Given the description of an element on the screen output the (x, y) to click on. 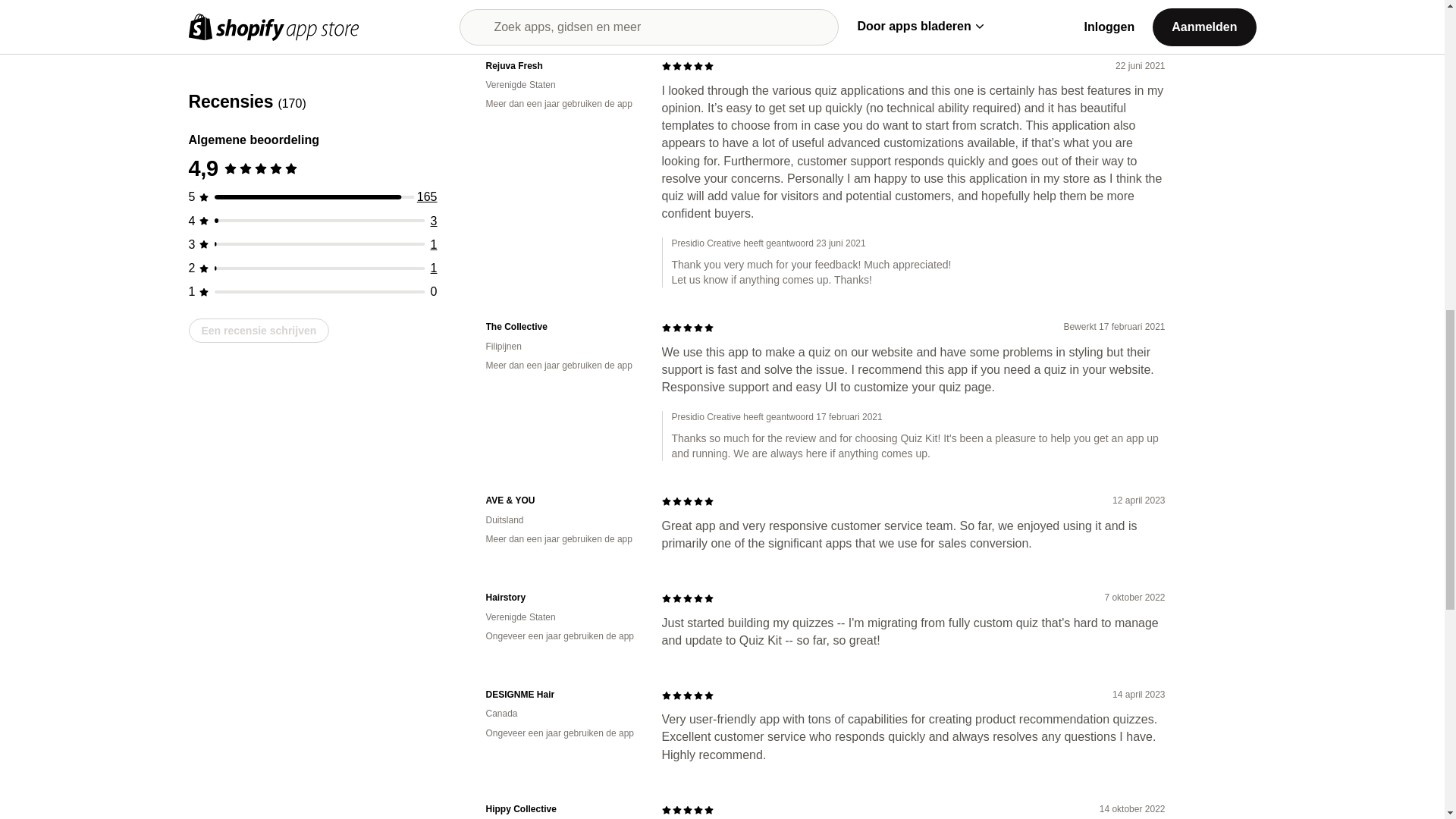
Hairstory (560, 597)
The Collective (560, 327)
Hippy Collective (560, 809)
Rejuva Fresh (560, 65)
DESIGNME Hair (560, 694)
